Given the description of an element on the screen output the (x, y) to click on. 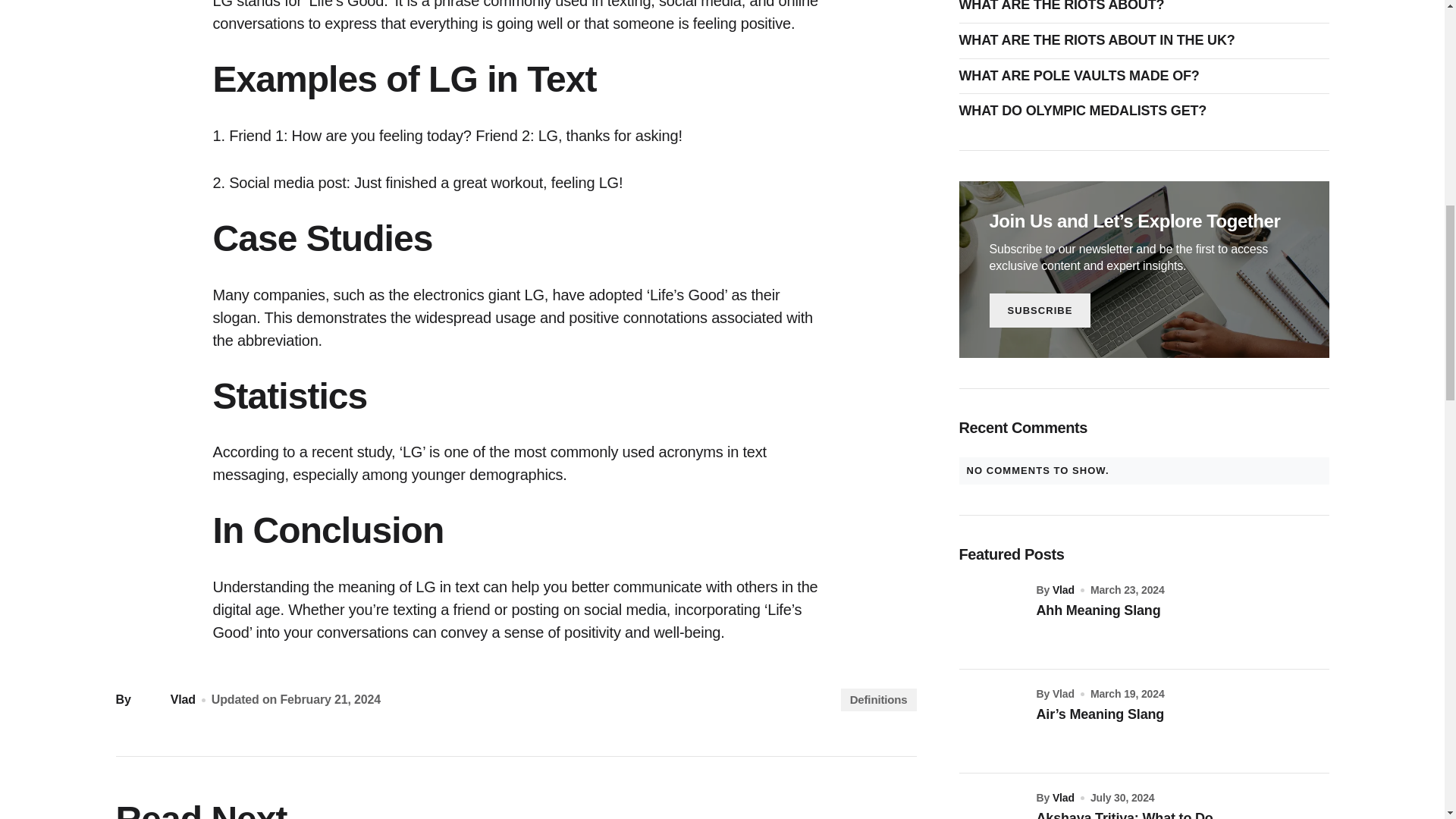
Definitions (879, 699)
Vlad (164, 699)
WHAT ARE THE RIOTS ABOUT IN THE UK? (1100, 40)
WHAT ARE THE RIOTS ABOUT? (1065, 6)
WHAT DO OLYMPIC MEDALISTS GET? (1086, 111)
WHAT ARE POLE VAULTS MADE OF? (1082, 76)
